Given the description of an element on the screen output the (x, y) to click on. 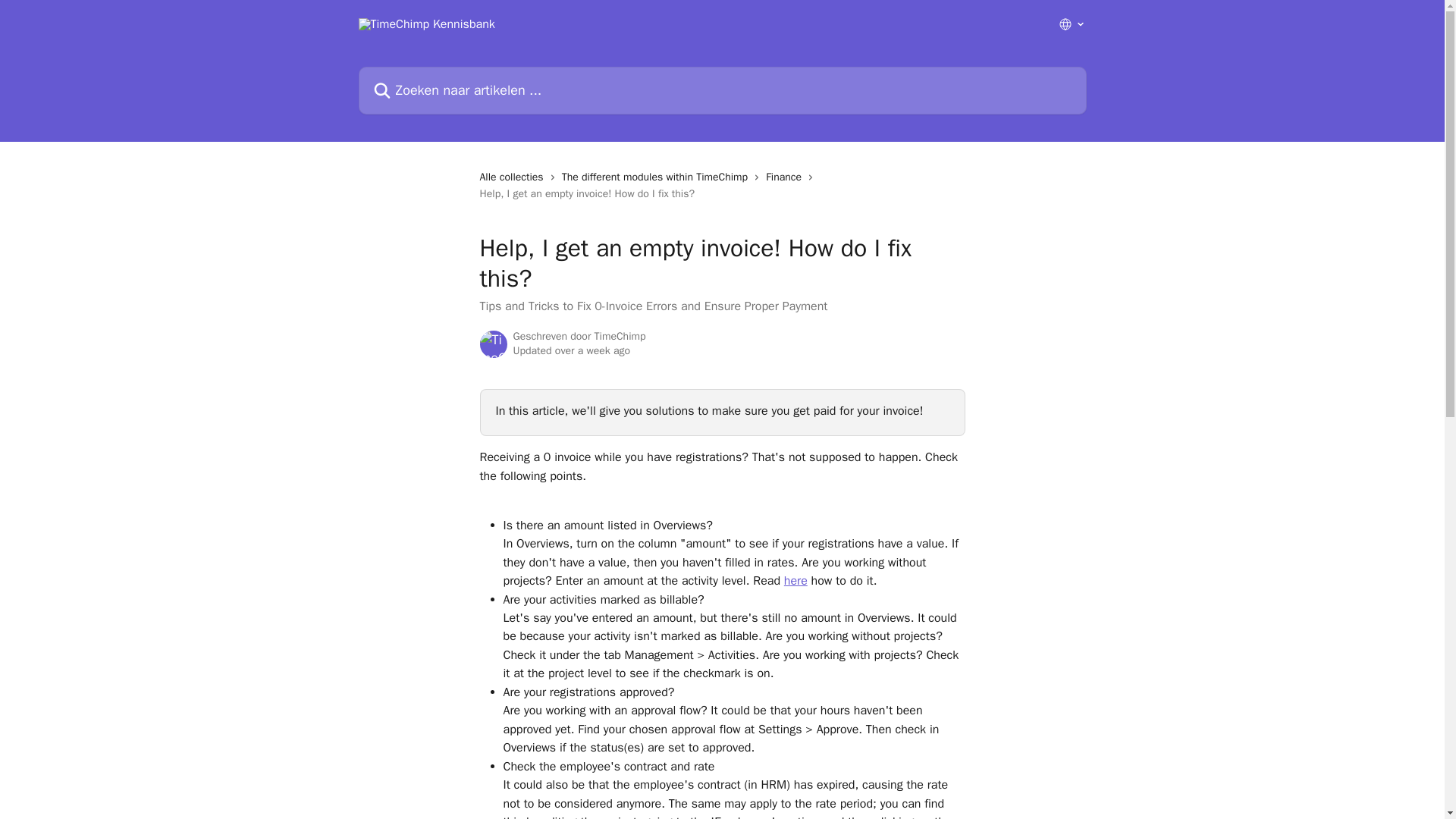
Finance (786, 176)
The different modules within TimeChimp (658, 176)
Alle collecties (513, 176)
here (796, 580)
